Given the description of an element on the screen output the (x, y) to click on. 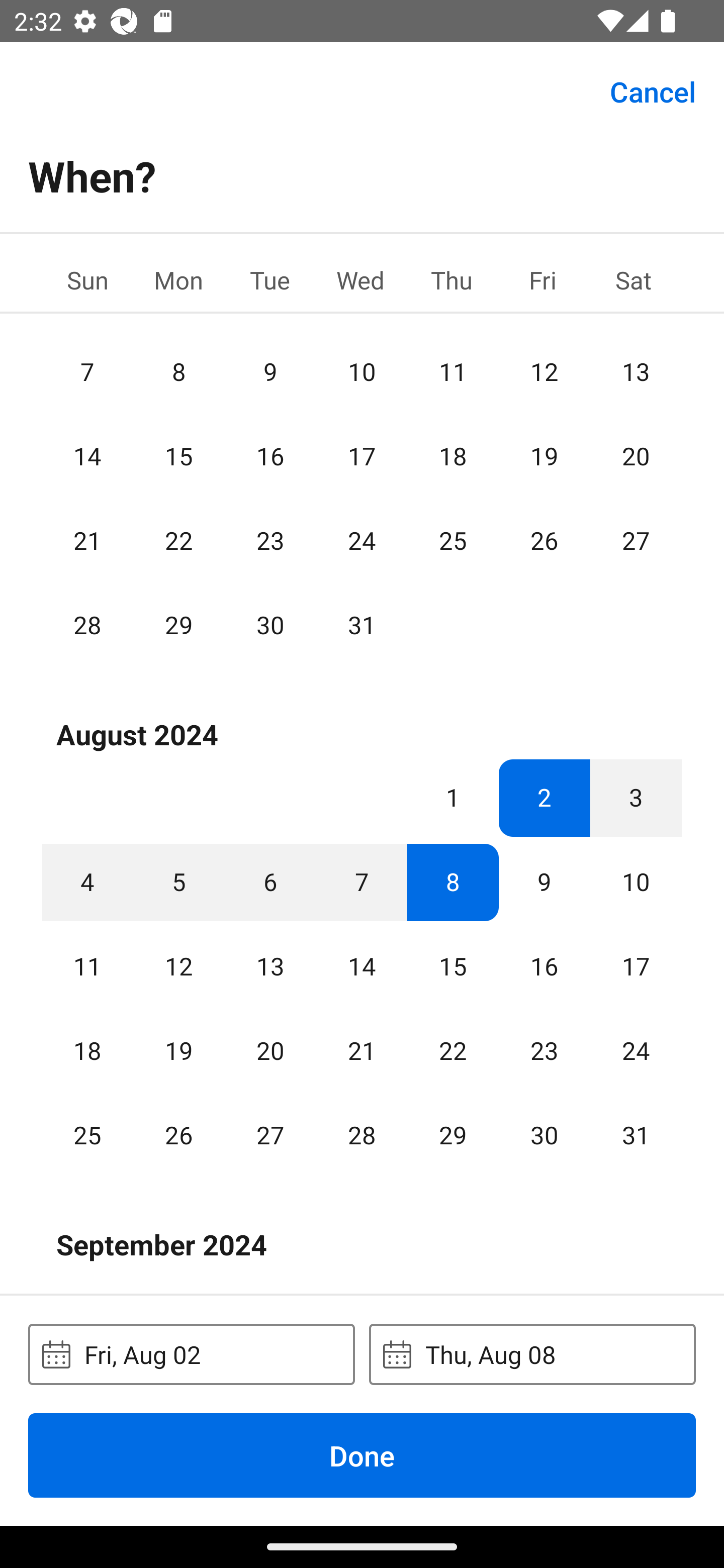
Cancel (652, 90)
Fri, Aug 02 (191, 1353)
Thu, Aug 08 (532, 1353)
Done (361, 1454)
